Given the description of an element on the screen output the (x, y) to click on. 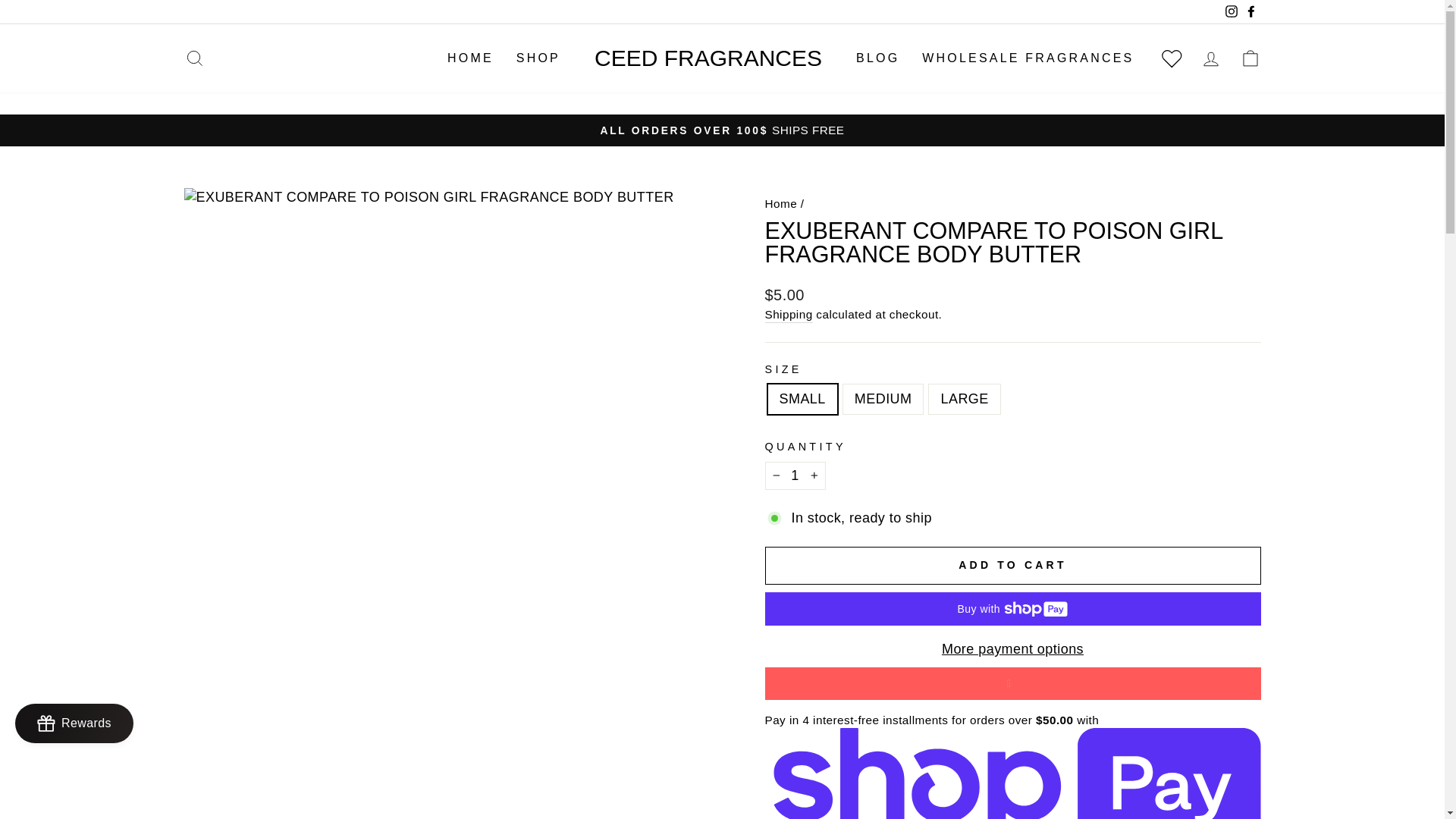
1 (794, 475)
Back to the frontpage (780, 203)
HOME (470, 58)
SHOP (538, 58)
SEARCH (194, 58)
